Given the description of an element on the screen output the (x, y) to click on. 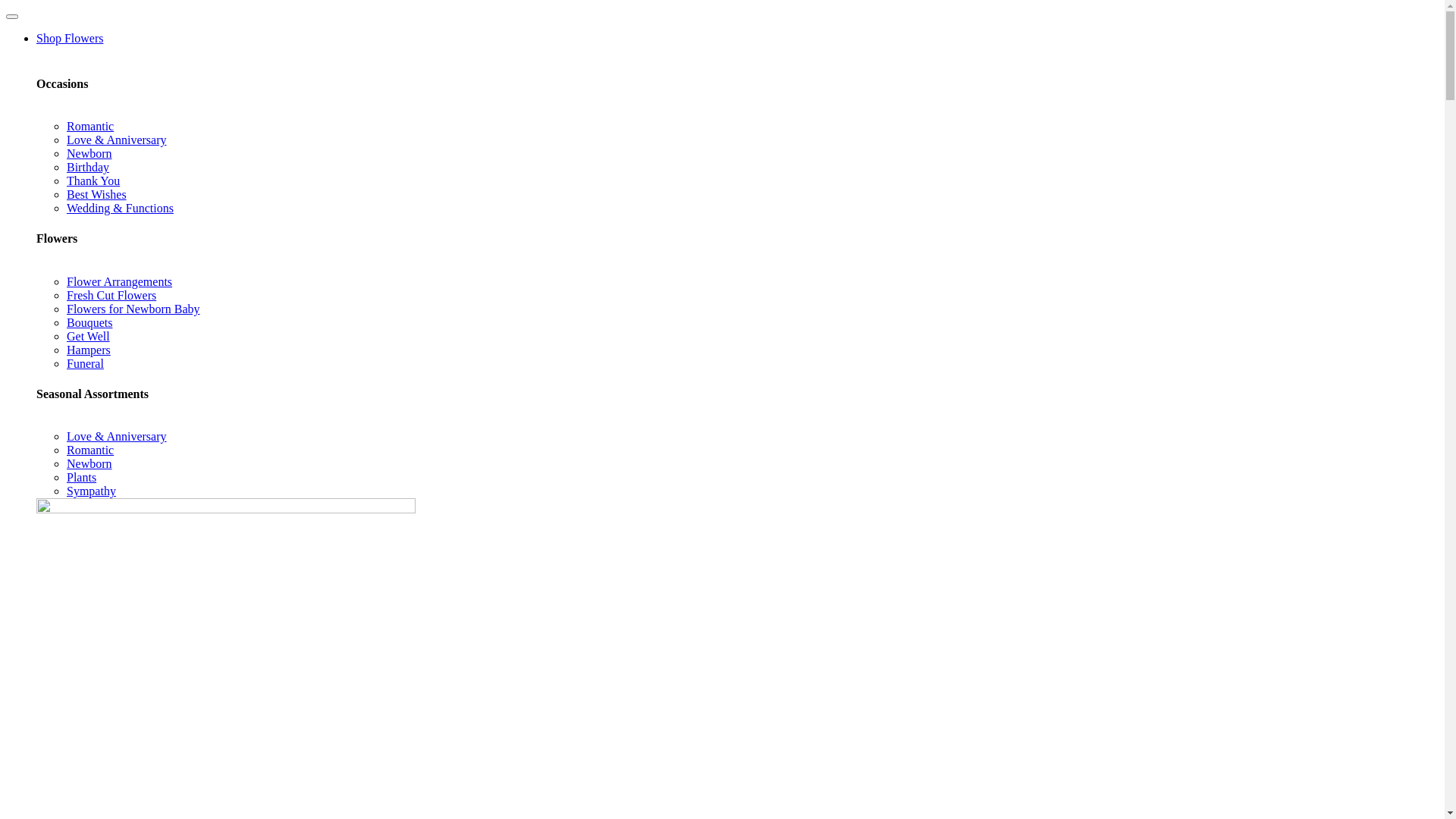
Flower Arrangements Element type: text (119, 281)
Thank You Element type: text (92, 180)
Flowers for Newborn Baby Element type: text (133, 308)
Love & Anniversary Element type: text (116, 139)
Birthday Element type: text (87, 166)
Hampers Element type: text (88, 349)
Love & Anniversary Element type: text (116, 435)
Fresh Cut Flowers Element type: text (111, 294)
Wedding & Functions Element type: text (119, 207)
Funeral Element type: text (84, 363)
Romantic Element type: text (89, 449)
Plants Element type: text (81, 476)
Newborn Element type: text (89, 463)
Sympathy Element type: text (91, 490)
Get Well Element type: text (87, 335)
Shop Flowers Element type: text (69, 37)
Best Wishes Element type: text (96, 194)
Bouquets Element type: text (89, 322)
Romantic Element type: text (89, 125)
Newborn Element type: text (89, 153)
